Given the description of an element on the screen output the (x, y) to click on. 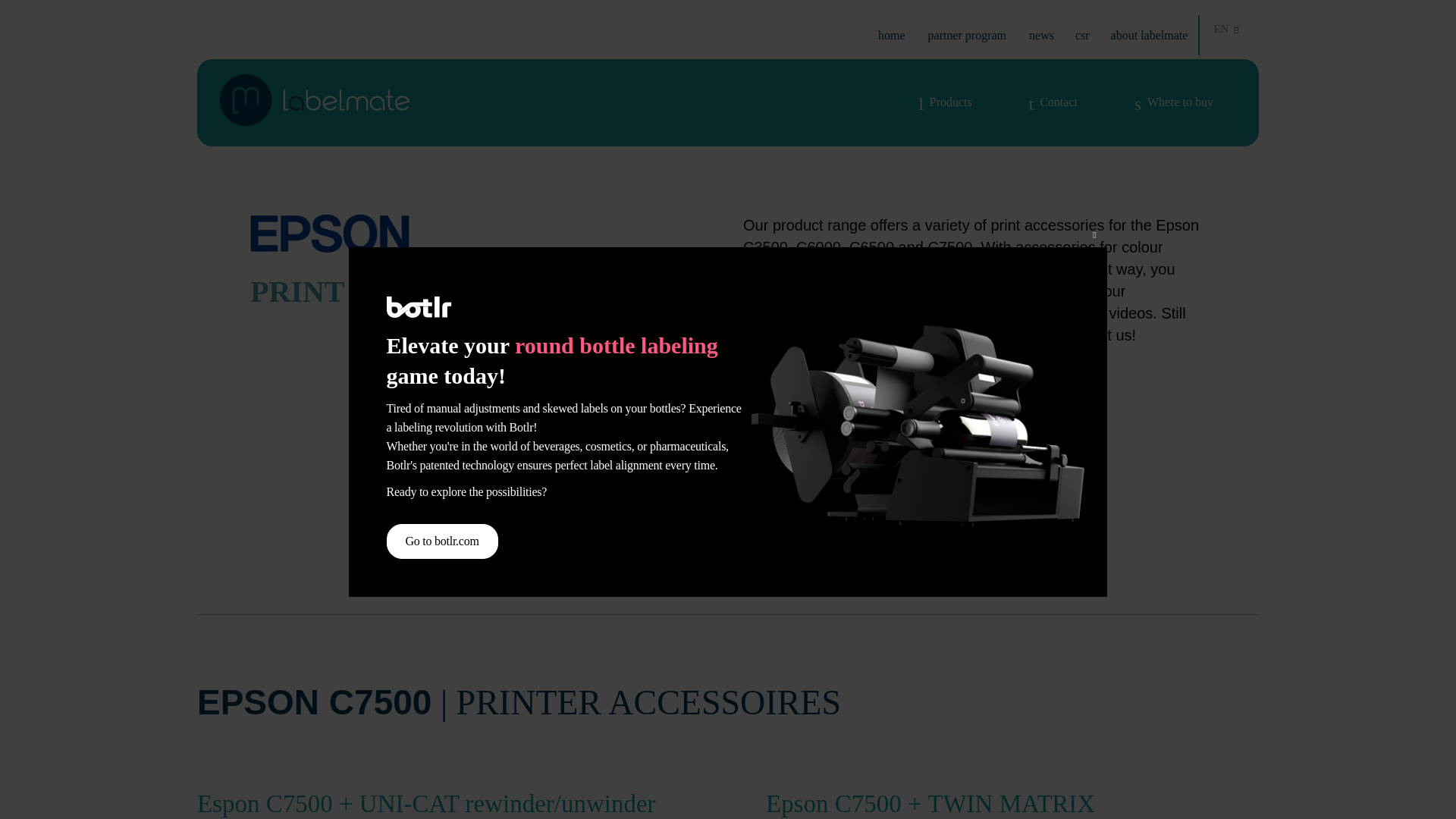
Go to News (1041, 34)
Go to CSR (1082, 34)
home (891, 34)
news (1041, 34)
Go to About Labelmate (1149, 34)
Go to Home (891, 34)
Contact (1053, 101)
csr (1082, 34)
about labelmate (1149, 34)
EN (1227, 29)
Where to buy (1173, 101)
Log In (817, 234)
